Given the description of an element on the screen output the (x, y) to click on. 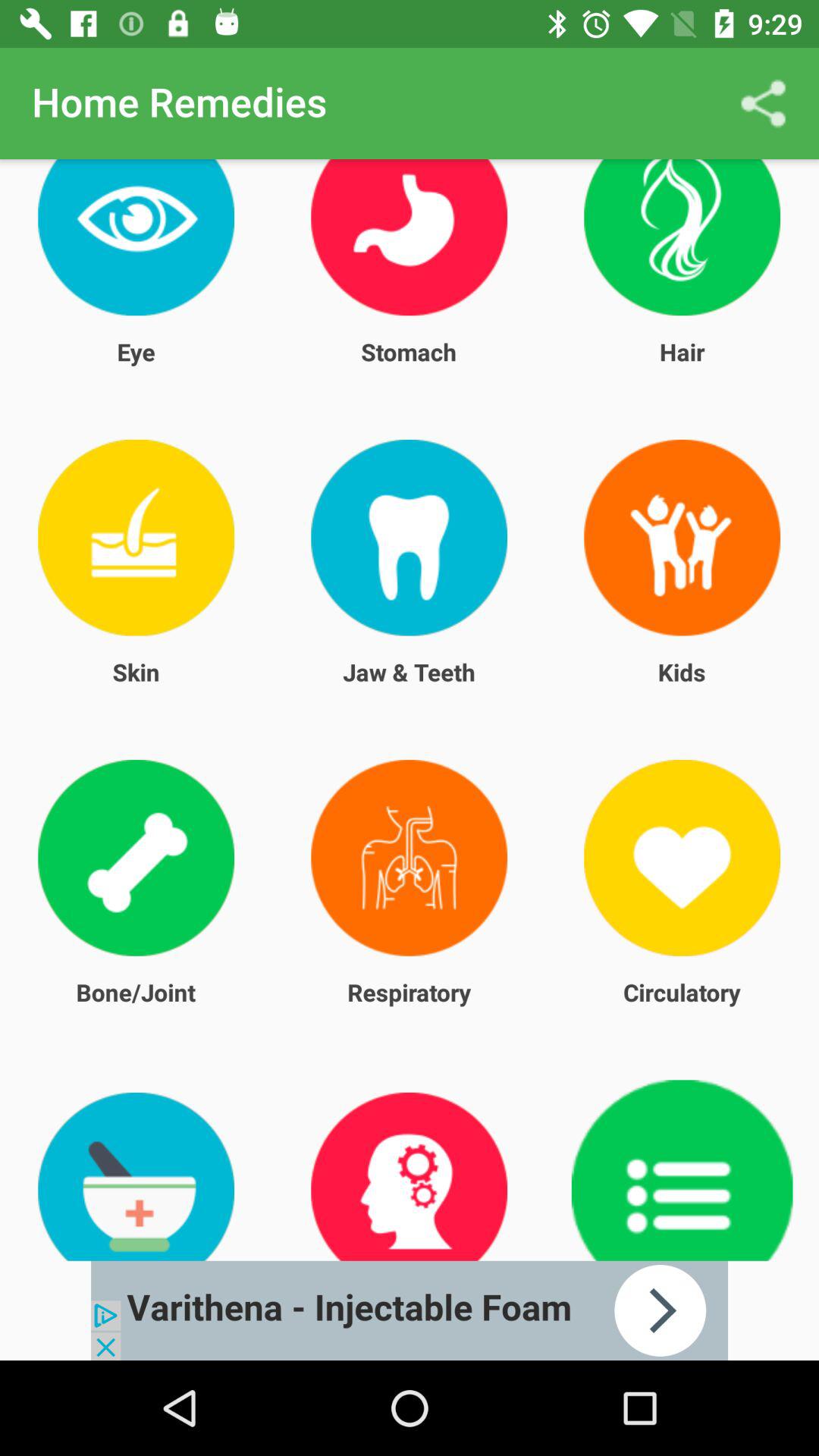
advertisement link banner (409, 1310)
